Given the description of an element on the screen output the (x, y) to click on. 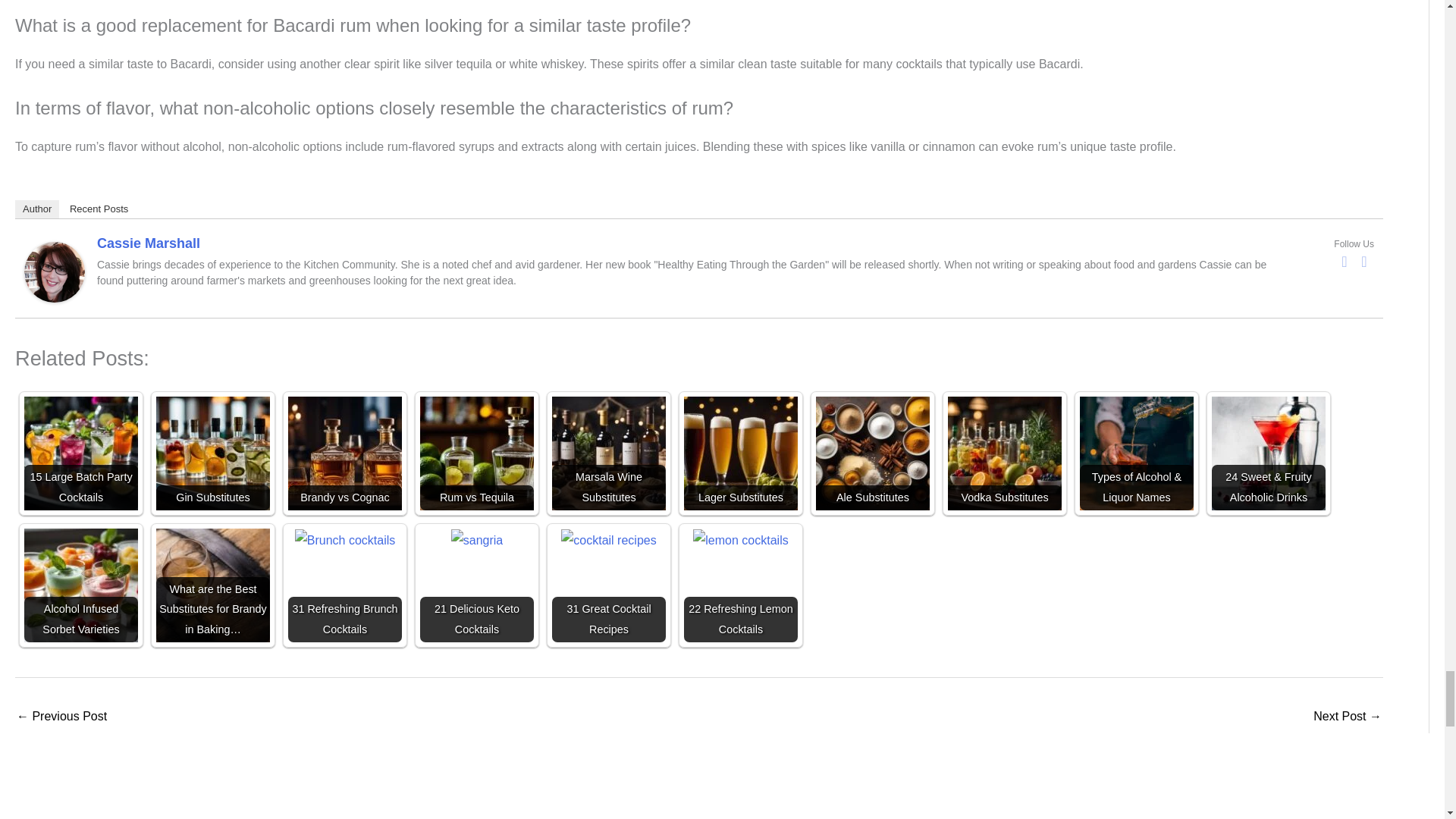
Cassie Marshall (54, 271)
Twitter (1364, 261)
Gin Substitutes (212, 453)
Facebook (1344, 261)
15 Large Batch Party Cocktails (81, 453)
